Given the description of an element on the screen output the (x, y) to click on. 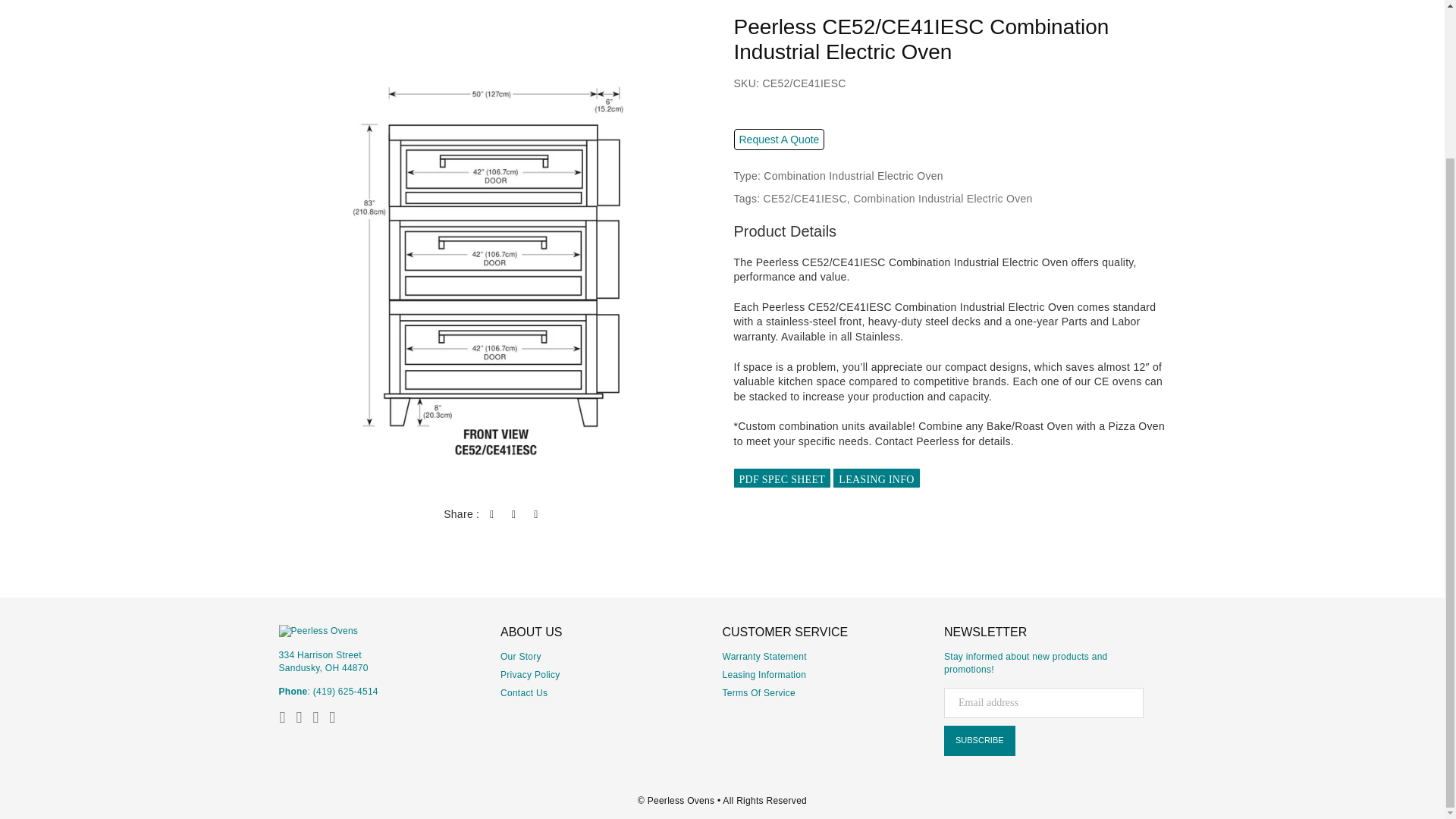
Peerless Ovens on YouTube (331, 717)
Peerless Ovens on Twitter (298, 717)
Peerless Ovens on Facebook (283, 717)
Peerless Ovens on Instagram (315, 717)
